Given the description of an element on the screen output the (x, y) to click on. 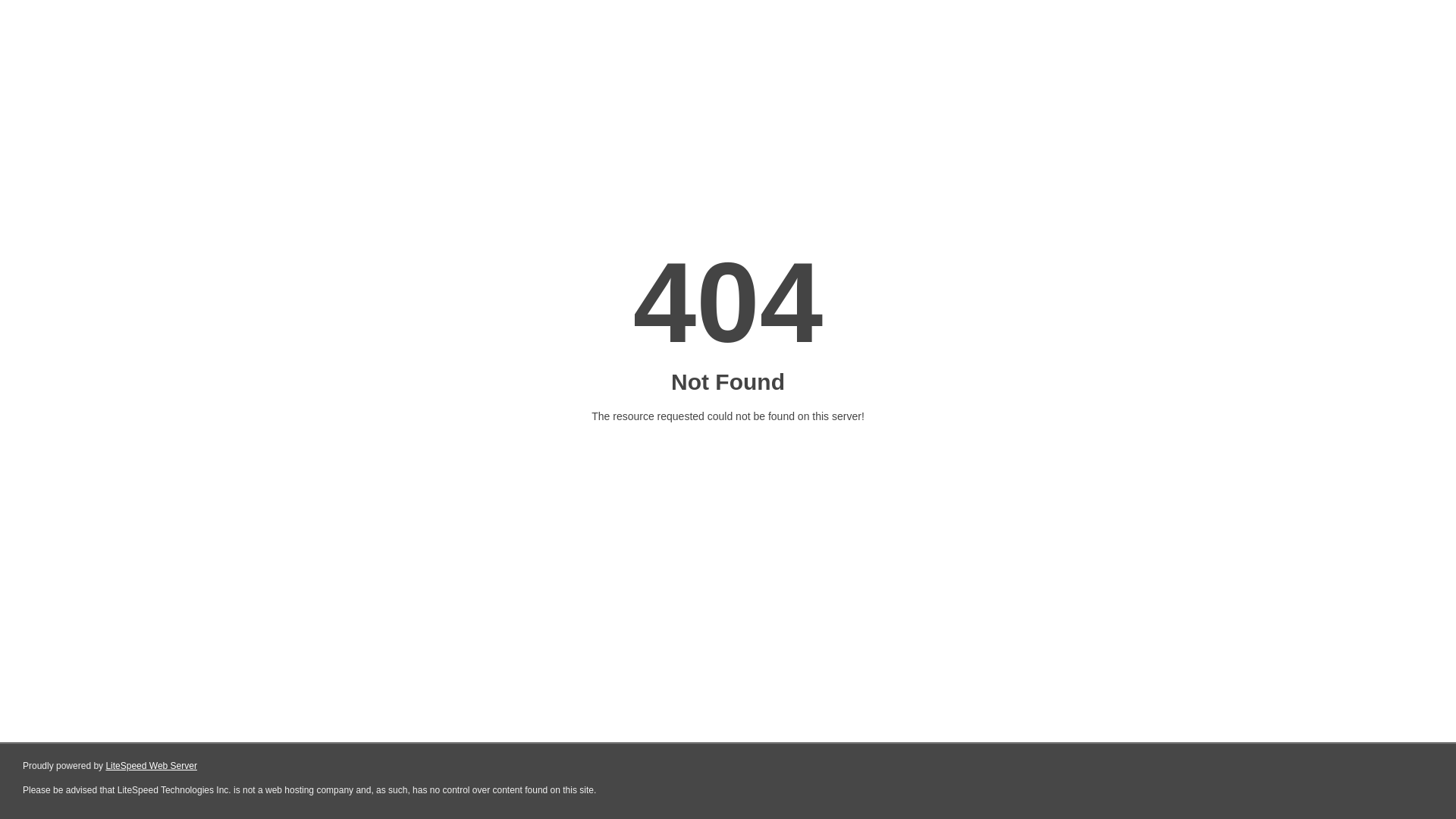
LiteSpeed Web Server Element type: text (151, 765)
